Given the description of an element on the screen output the (x, y) to click on. 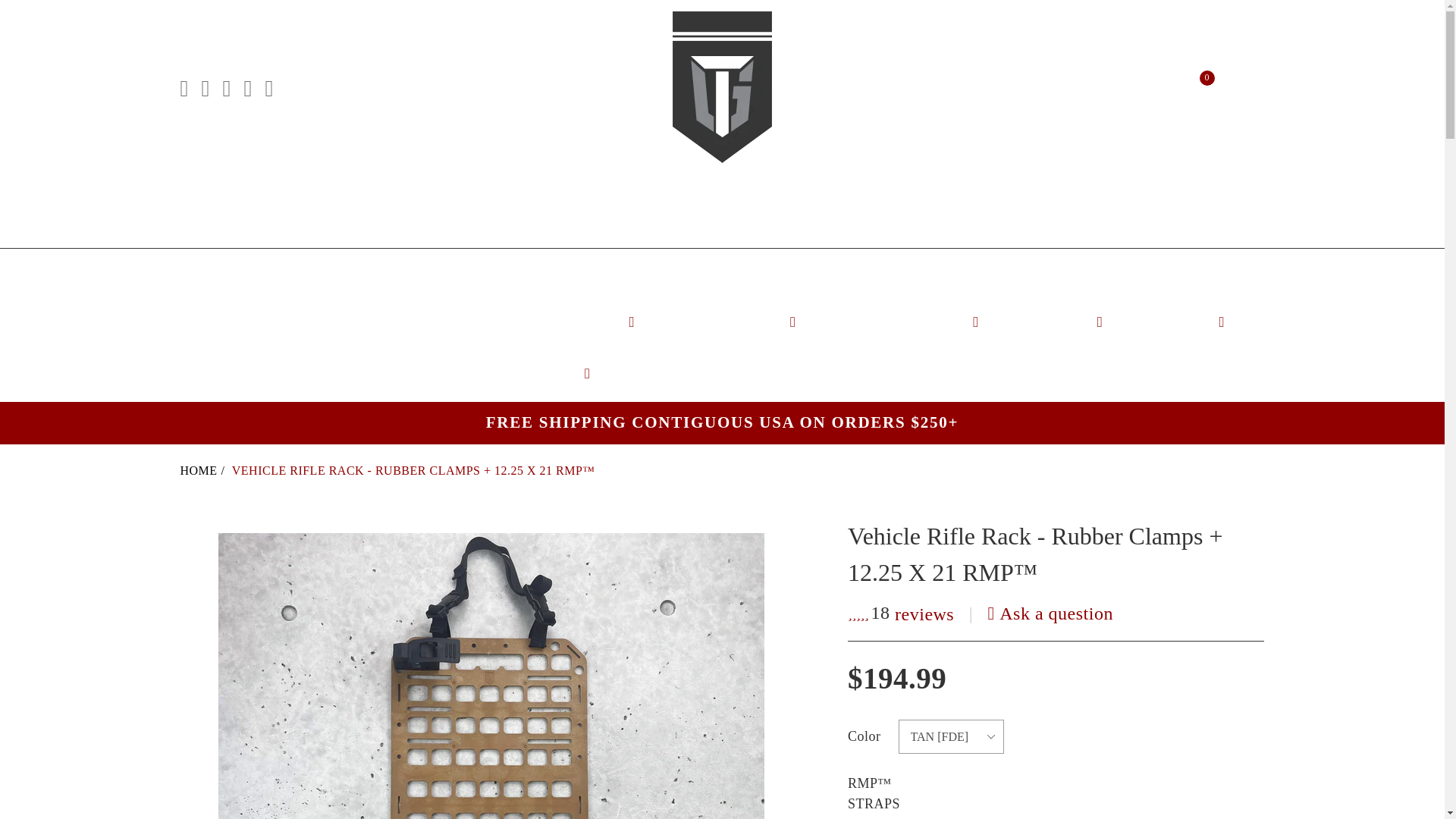
Home (204, 470)
